Given the description of an element on the screen output the (x, y) to click on. 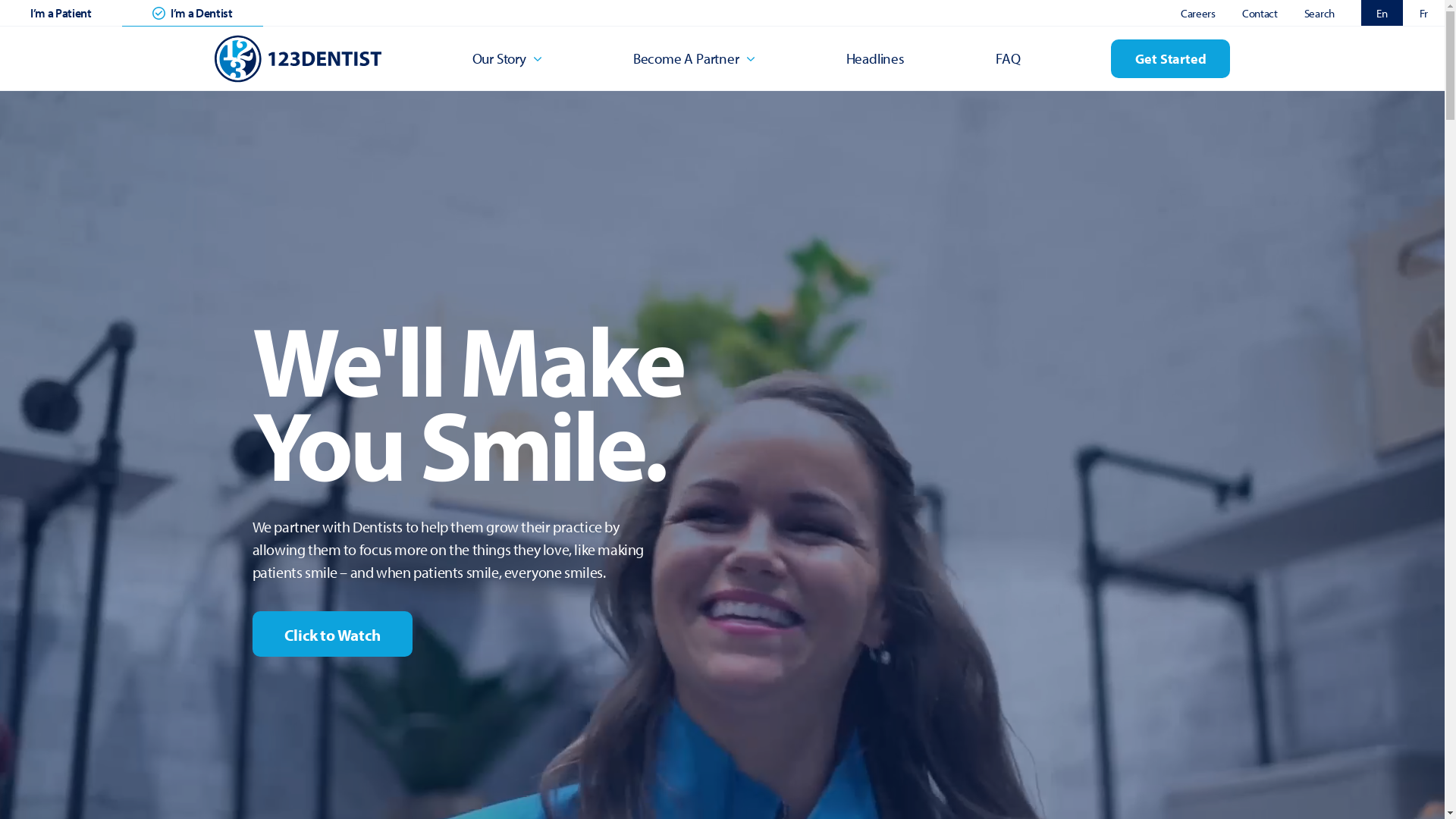
123Dentist Partners Element type: hover (296, 58)
Headlines Element type: text (875, 58)
Get Started Element type: text (1170, 58)
En Element type: text (1381, 12)
Fr Element type: text (1423, 12)
Become A Partner Element type: text (694, 58)
FAQ Element type: text (1007, 58)
Our Story Element type: text (507, 58)
Search Element type: text (1319, 13)
Contact Element type: text (1259, 13)
Careers Element type: text (1197, 13)
Click to Watch Element type: text (331, 633)
